Given the description of an element on the screen output the (x, y) to click on. 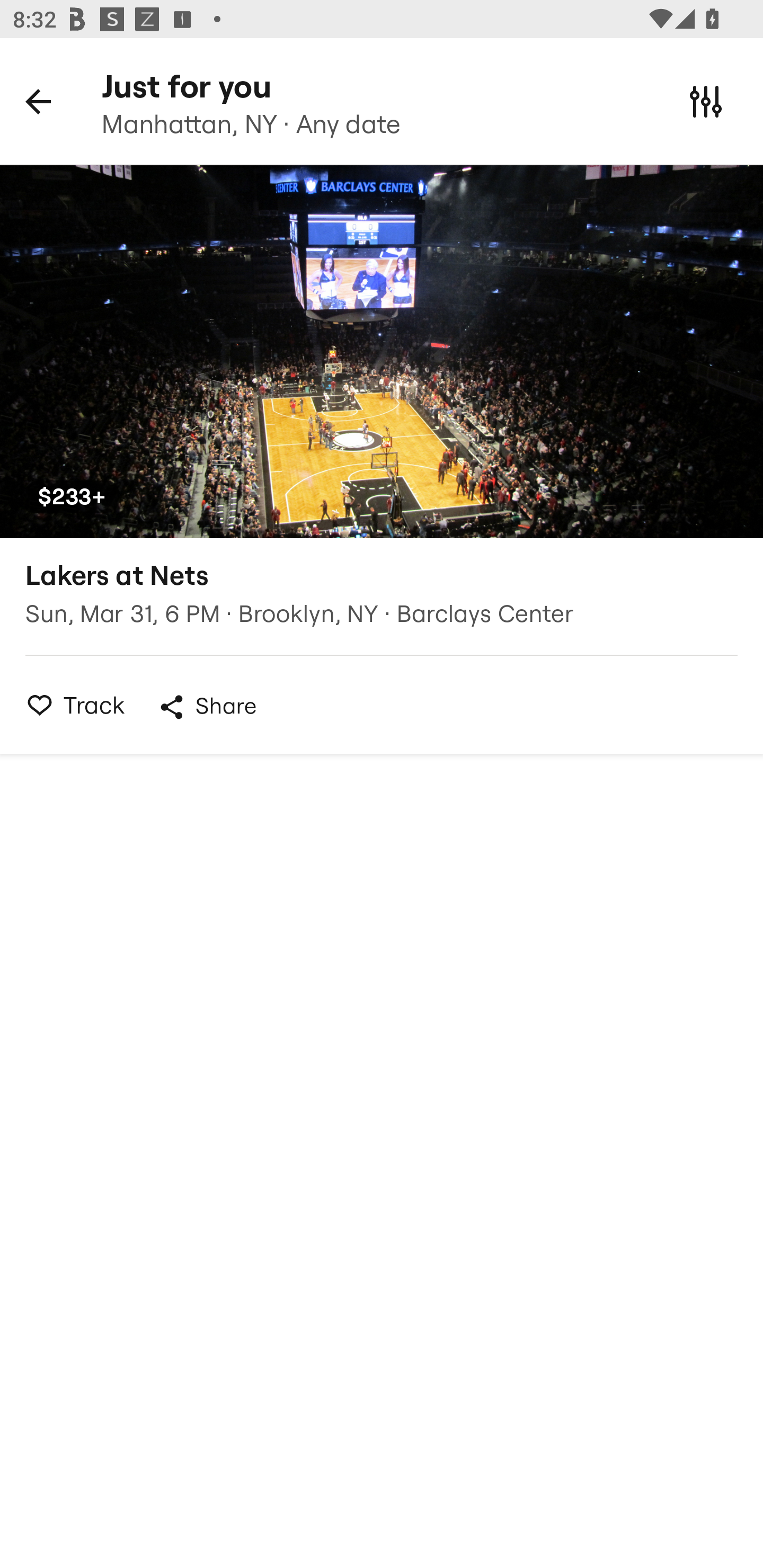
Back (38, 100)
Close (705, 100)
Track (70, 704)
Share (207, 706)
